Given the description of an element on the screen output the (x, y) to click on. 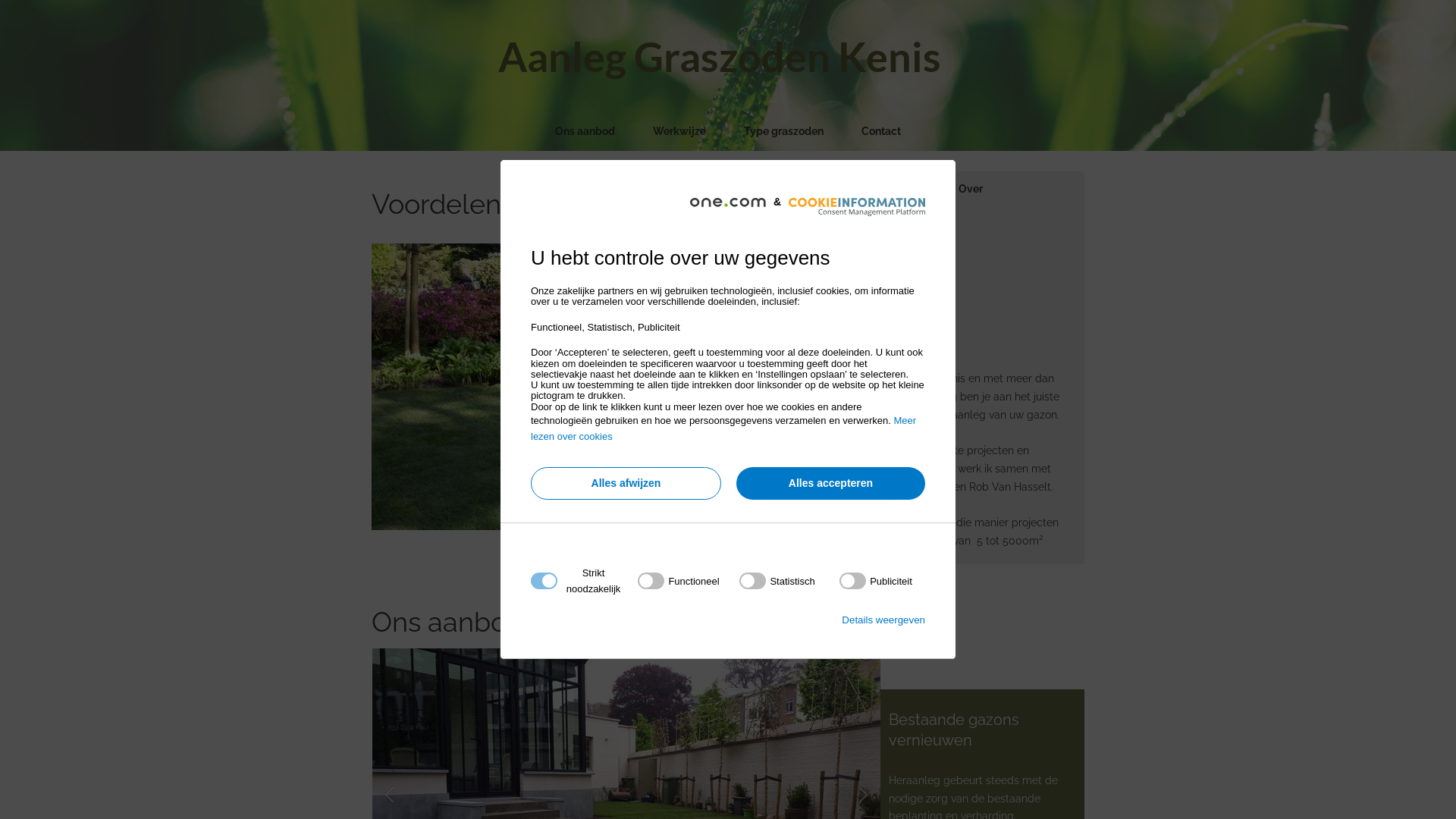
Ons aanbod Element type: text (584, 131)
Functioneel Element type: text (723, 763)
Type graszoden Element type: text (783, 131)
on Element type: text (776, 580)
on Element type: text (875, 580)
Werkwijze Element type: text (679, 131)
Alles afwijzen Element type: text (625, 483)
Details weergeven Element type: text (883, 619)
Strikt noodzakelijk Element type: text (723, 673)
Contact Element type: text (881, 131)
on Element type: text (677, 580)
Meer lezen over cookies Element type: text (723, 428)
Alles accepteren Element type: text (830, 483)
